Given the description of an element on the screen output the (x, y) to click on. 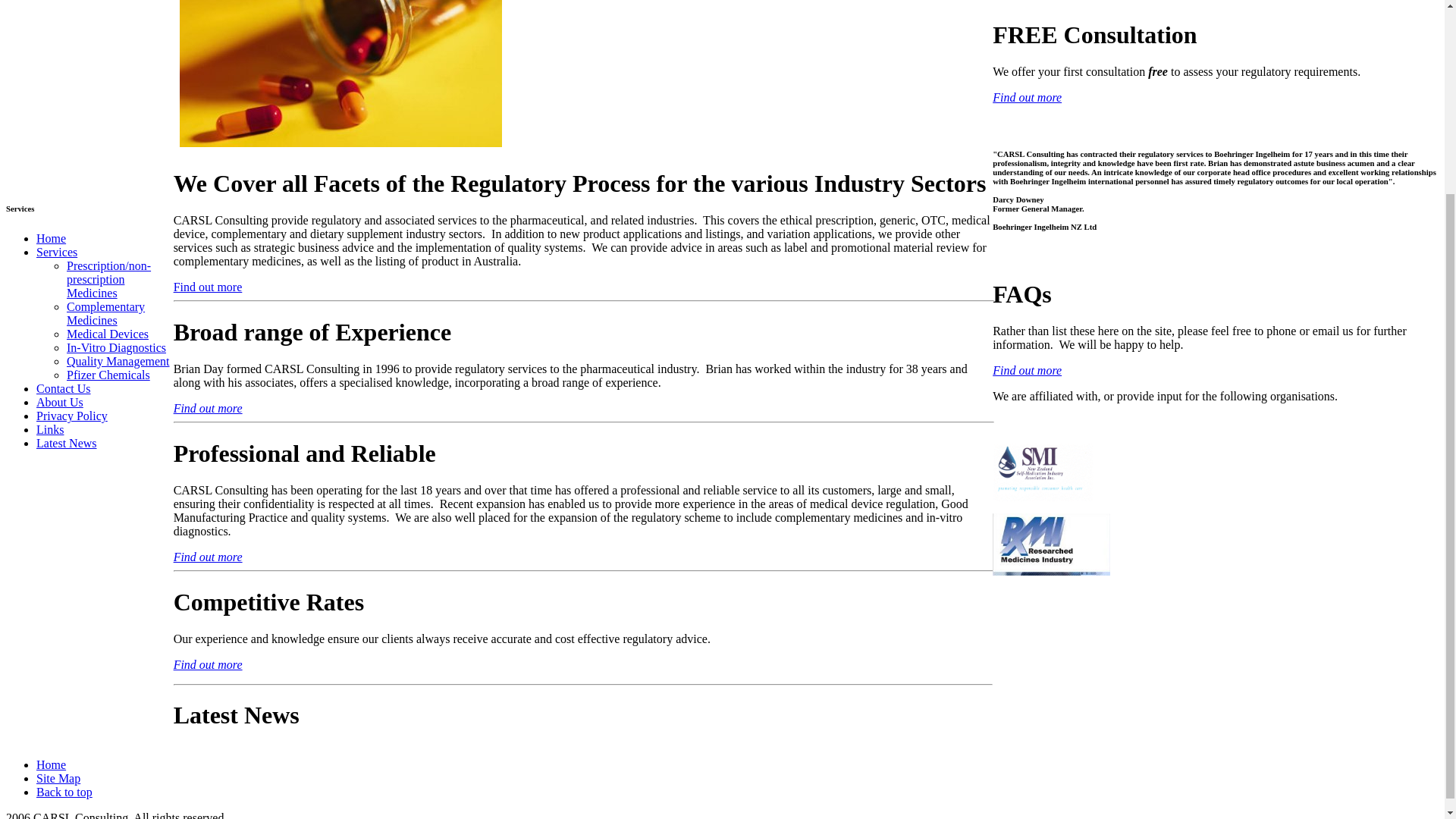
Find out more (208, 408)
Home (50, 237)
About Us (59, 401)
Find out more (208, 556)
Links (50, 429)
Pfizer Chemicals (107, 374)
Privacy Policy (71, 415)
Home (50, 764)
Complementary Medicines (105, 313)
In-Vitro Diagnostics (115, 347)
